Given the description of an element on the screen output the (x, y) to click on. 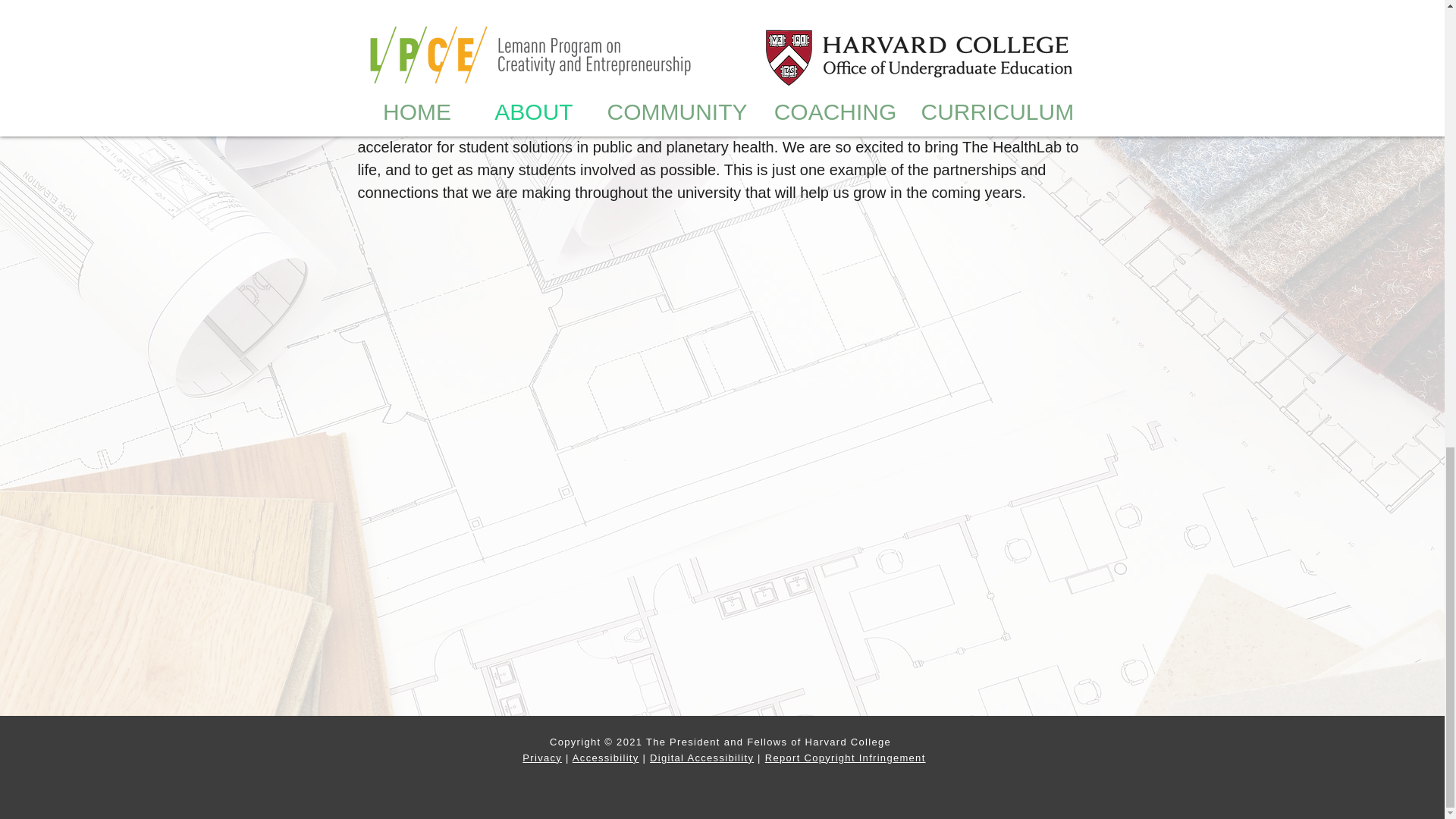
Report Copyright Infringement (845, 757)
Privacy (542, 757)
Digital Accessibility (701, 757)
Accessibility (605, 757)
